Given the description of an element on the screen output the (x, y) to click on. 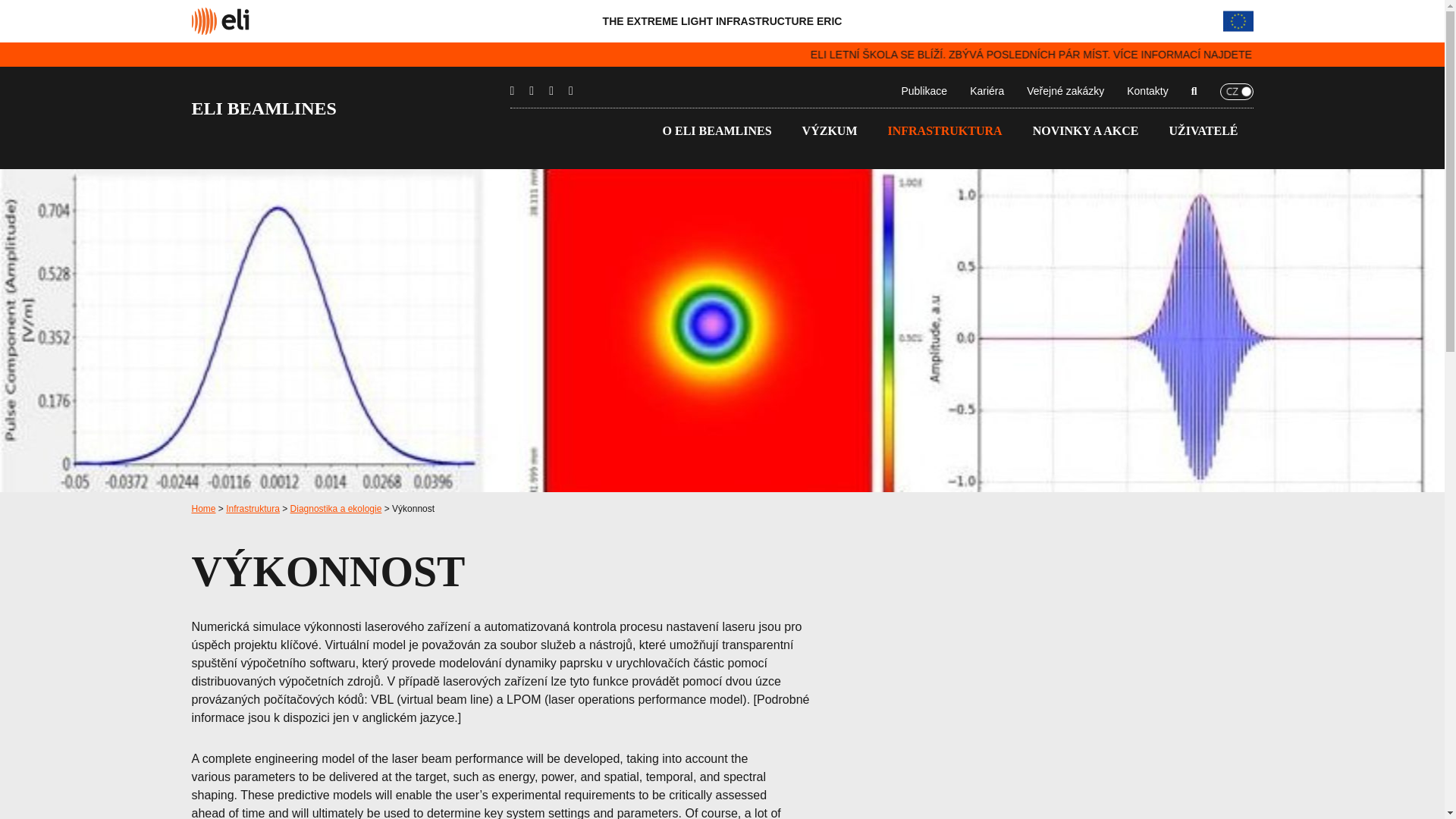
Kontakty (1146, 91)
Diagnostika a ekologie. (335, 508)
VYHLEDAT (979, 48)
Publikace (924, 91)
O ELI BEAMLINES (717, 130)
ELI BEAMLINES (349, 108)
Infrastruktura. (252, 508)
